Given the description of an element on the screen output the (x, y) to click on. 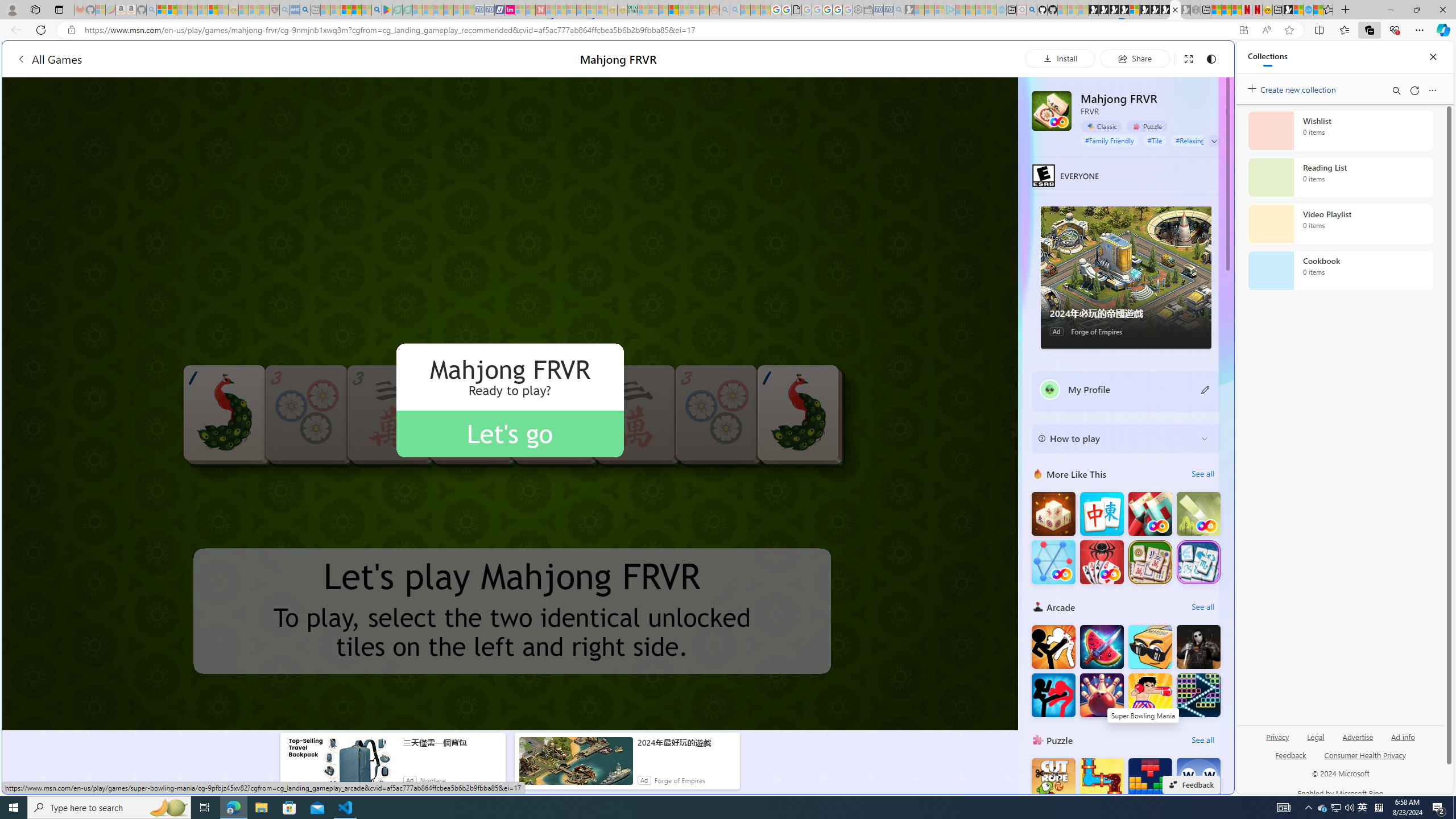
Consumer Health Privacy (1364, 754)
Plumber World (1101, 779)
Mahjong 3D Connect (1053, 513)
Settings - Sleeping (857, 9)
